Given the description of an element on the screen output the (x, y) to click on. 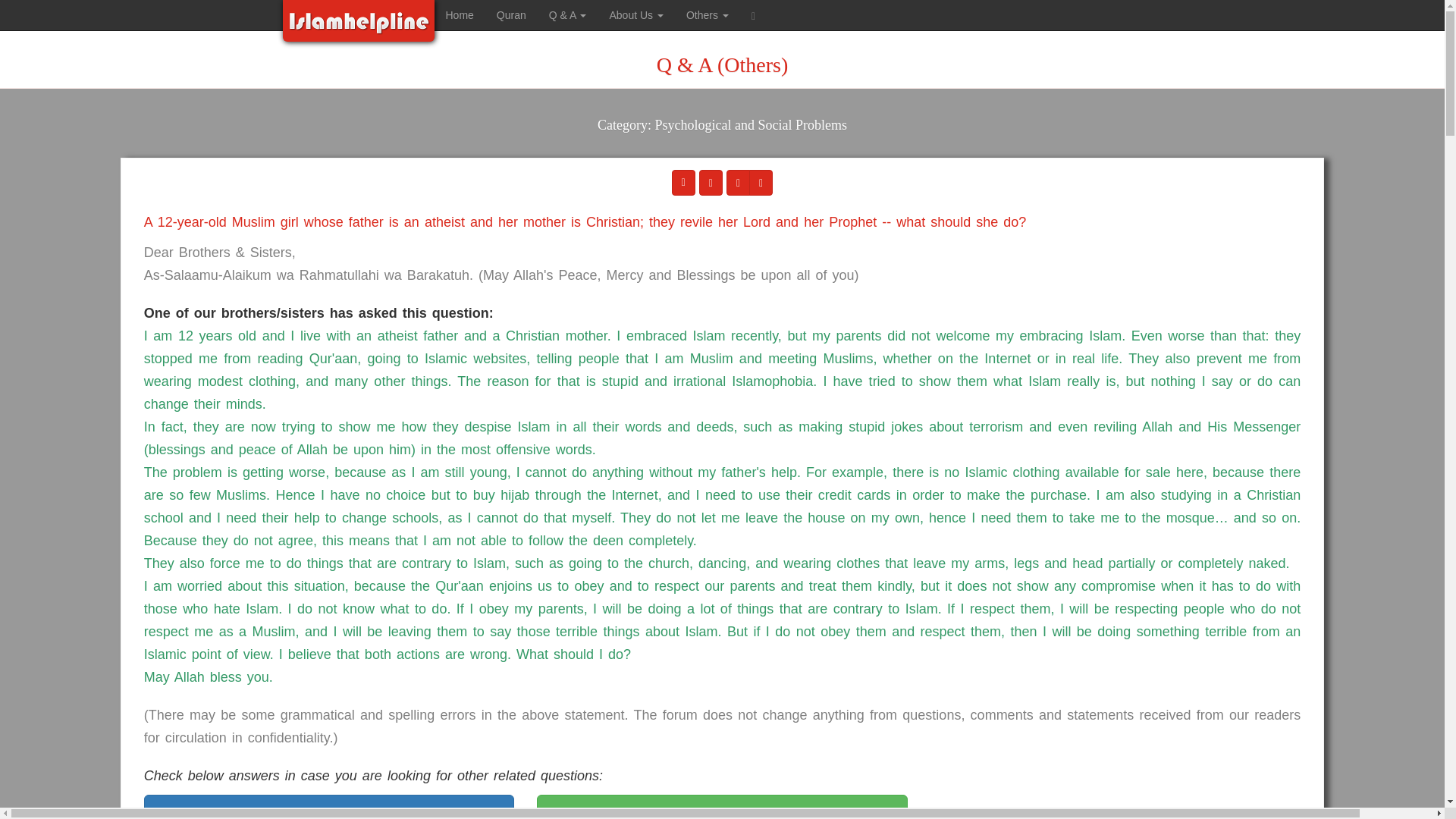
About Us (635, 15)
Home (458, 15)
Category: Psychological and Social Problems (721, 134)
Quran (510, 15)
Others (707, 15)
